Given the description of an element on the screen output the (x, y) to click on. 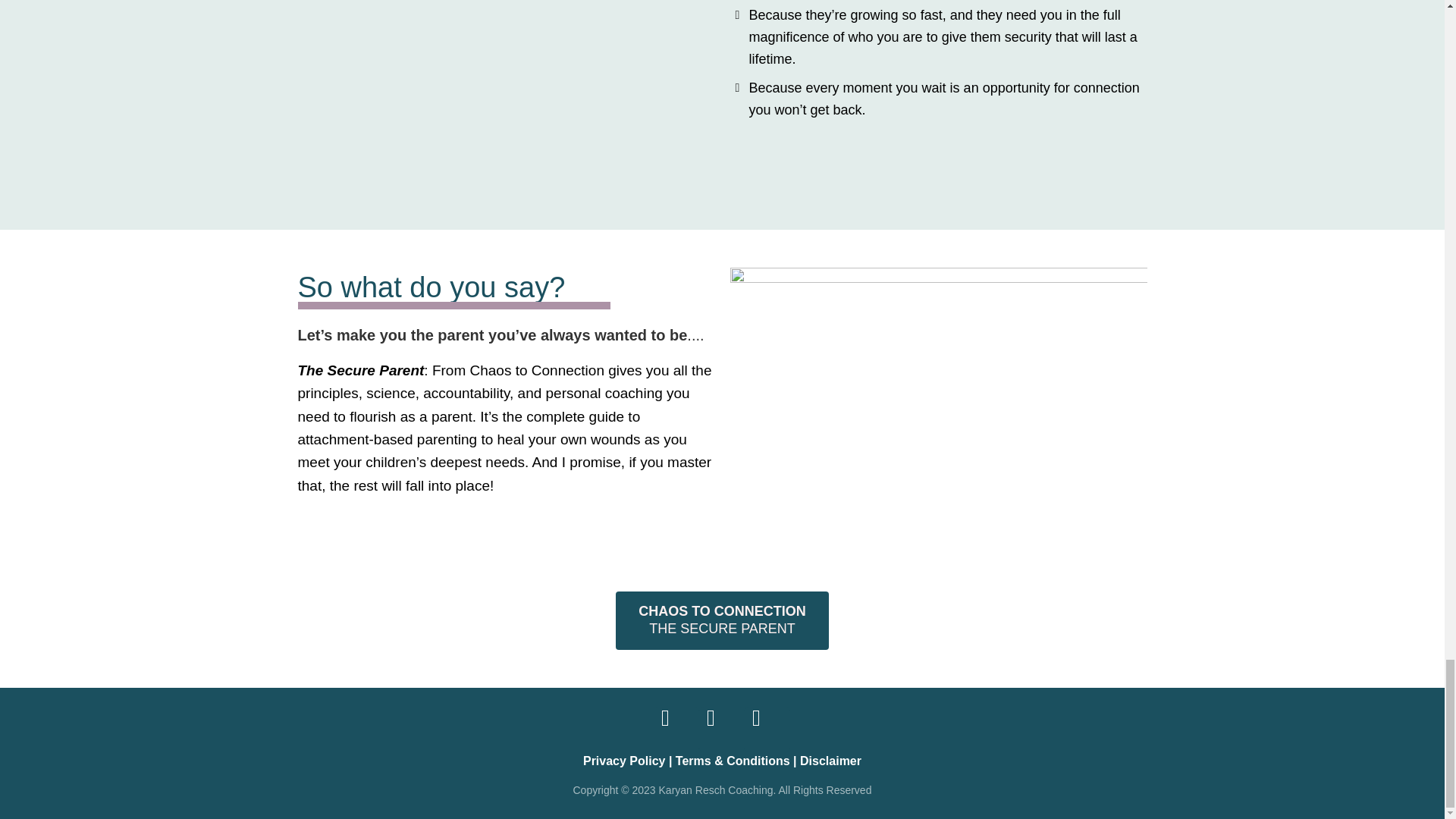
Disclaimer (721, 620)
Privacy Policy (830, 760)
